Given the description of an element on the screen output the (x, y) to click on. 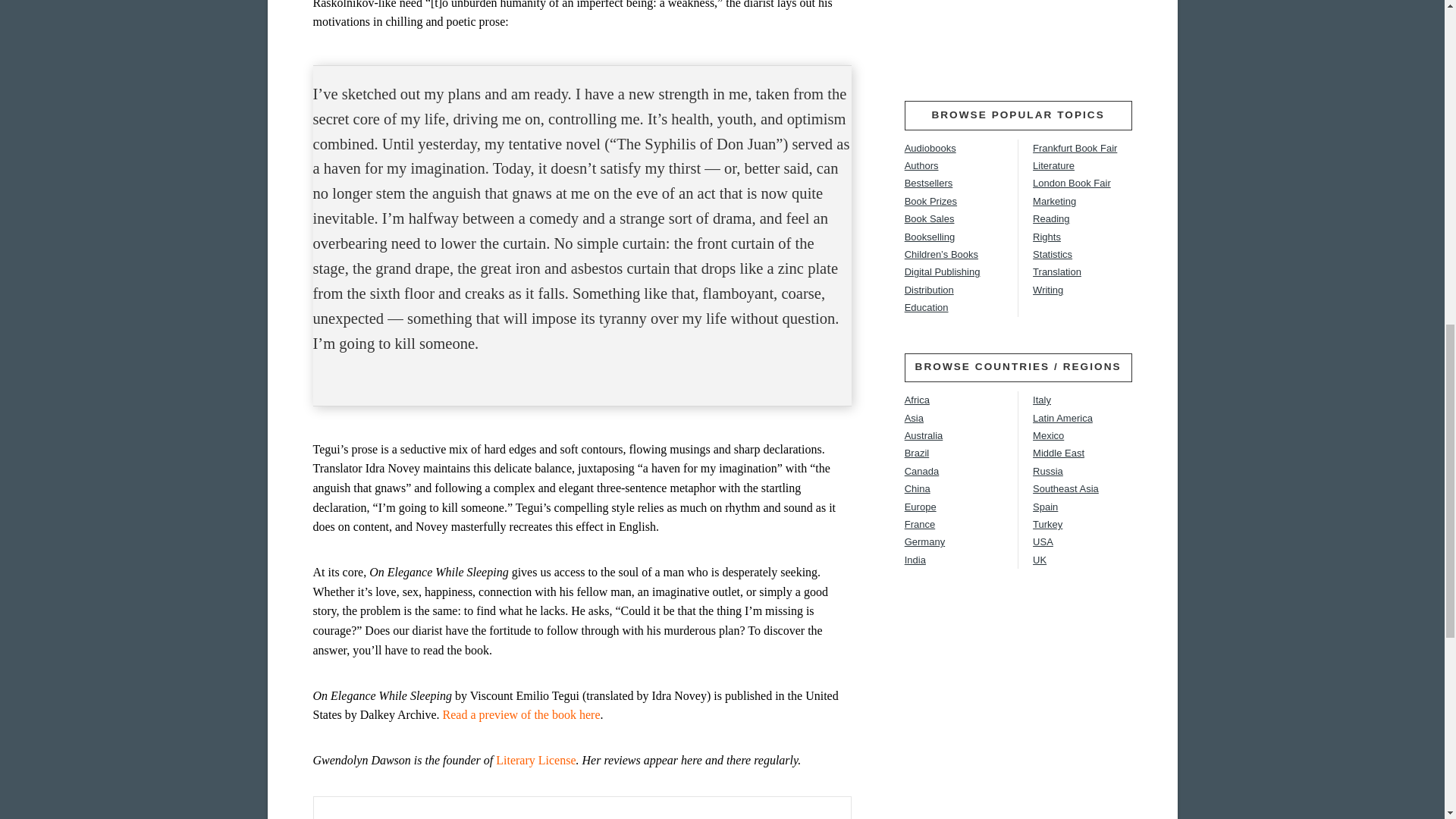
Read a preview of the book here (520, 714)
Literary License (535, 759)
